Given the description of an element on the screen output the (x, y) to click on. 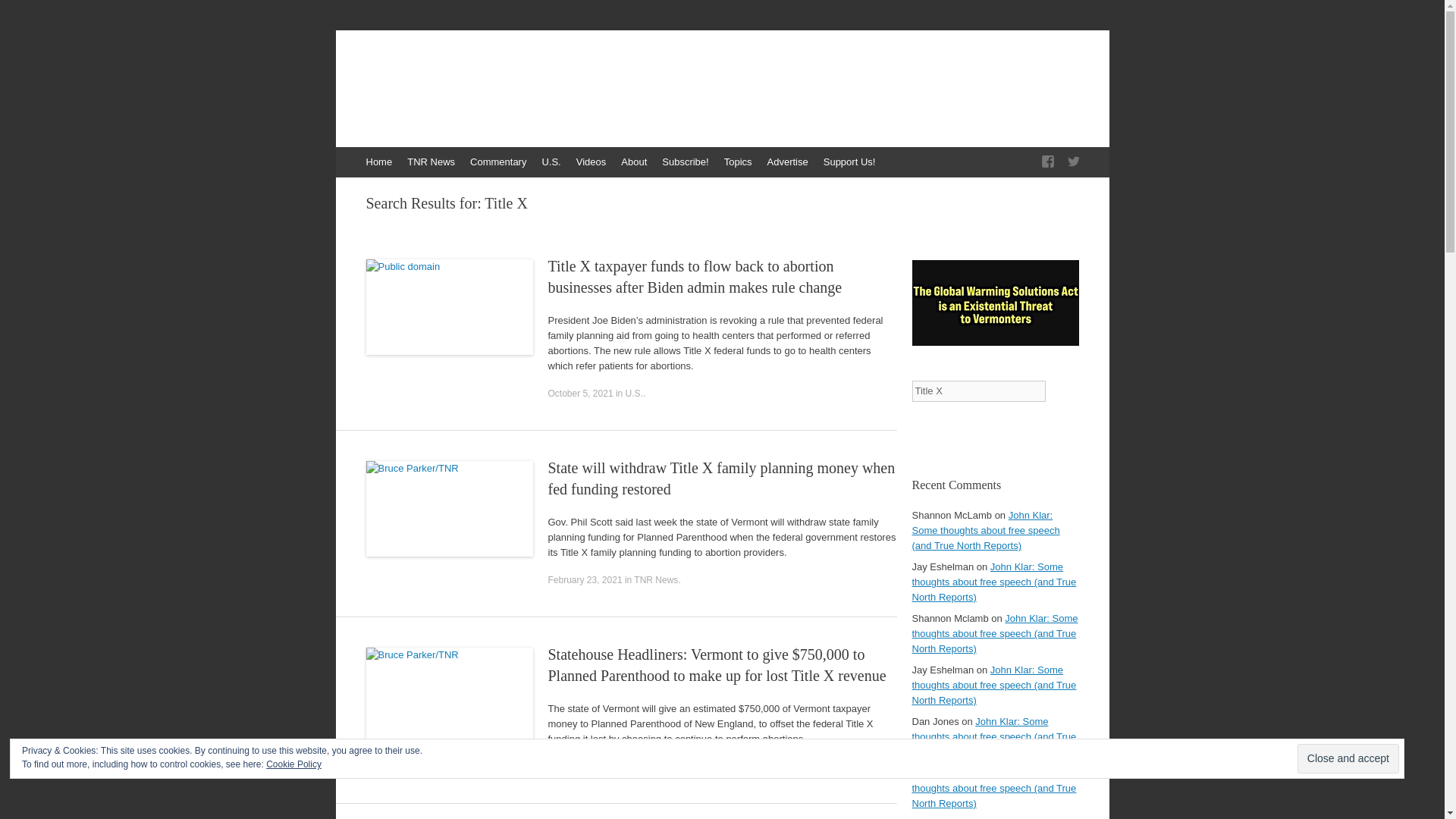
Videos (591, 162)
Home (378, 162)
Subscribe! (684, 162)
U.S. (550, 162)
Skip to content (342, 154)
True North Reports (465, 80)
TNR News (430, 162)
Topics (738, 162)
Global Warming Solutions Act (994, 342)
True North Reports (465, 80)
